Given the description of an element on the screen output the (x, y) to click on. 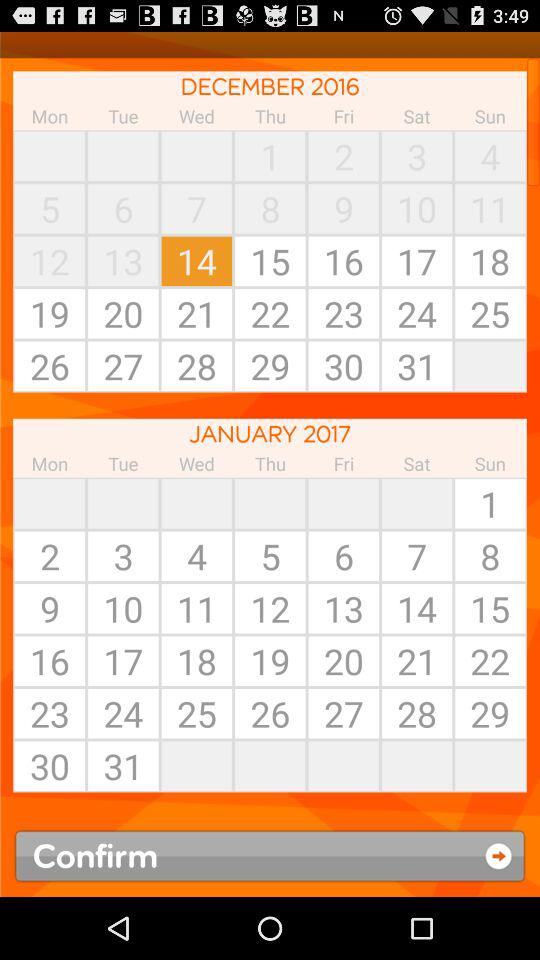
click icon below mon item (49, 503)
